Given the description of an element on the screen output the (x, y) to click on. 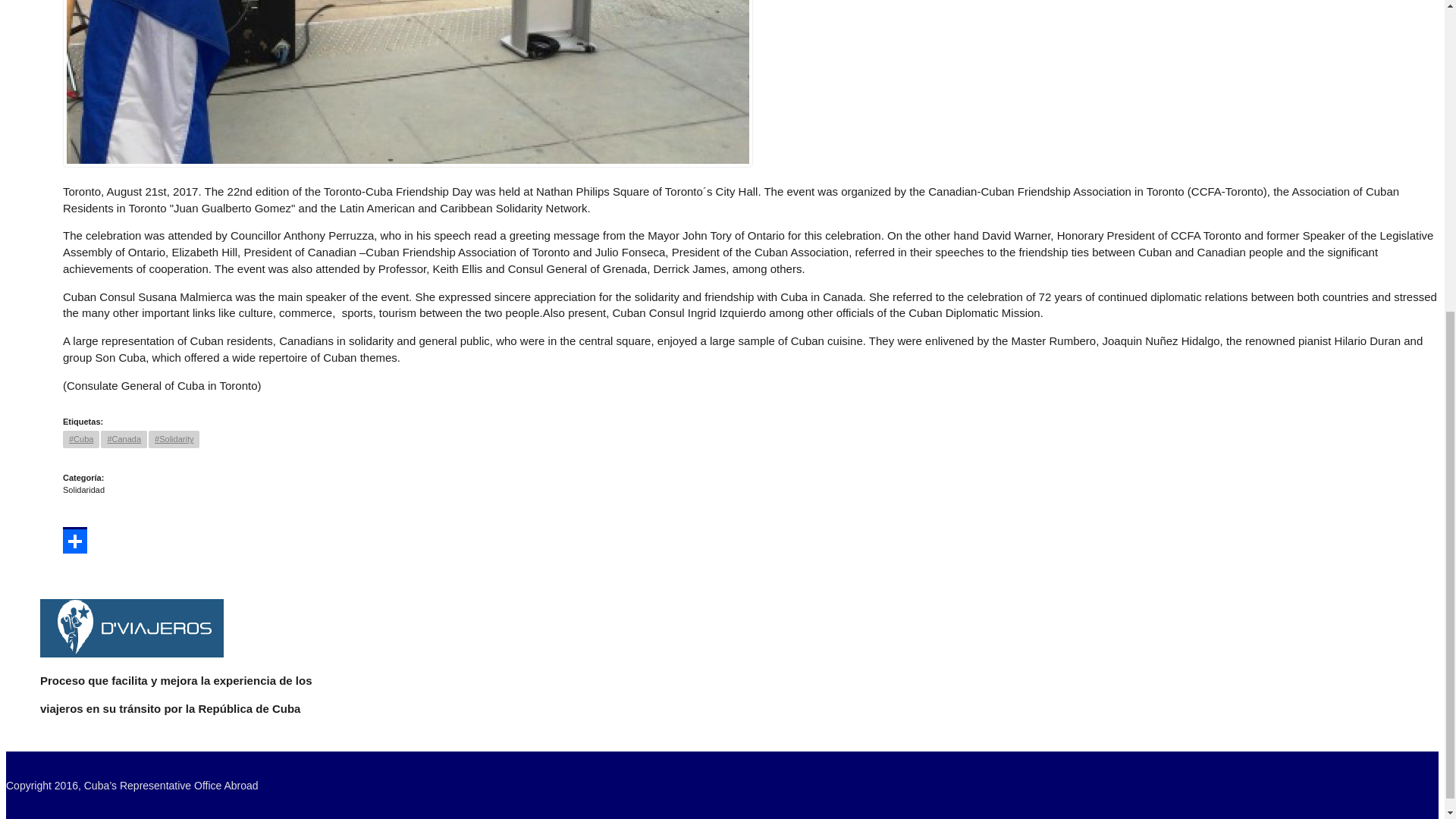
SHARE (74, 540)
